Given the description of an element on the screen output the (x, y) to click on. 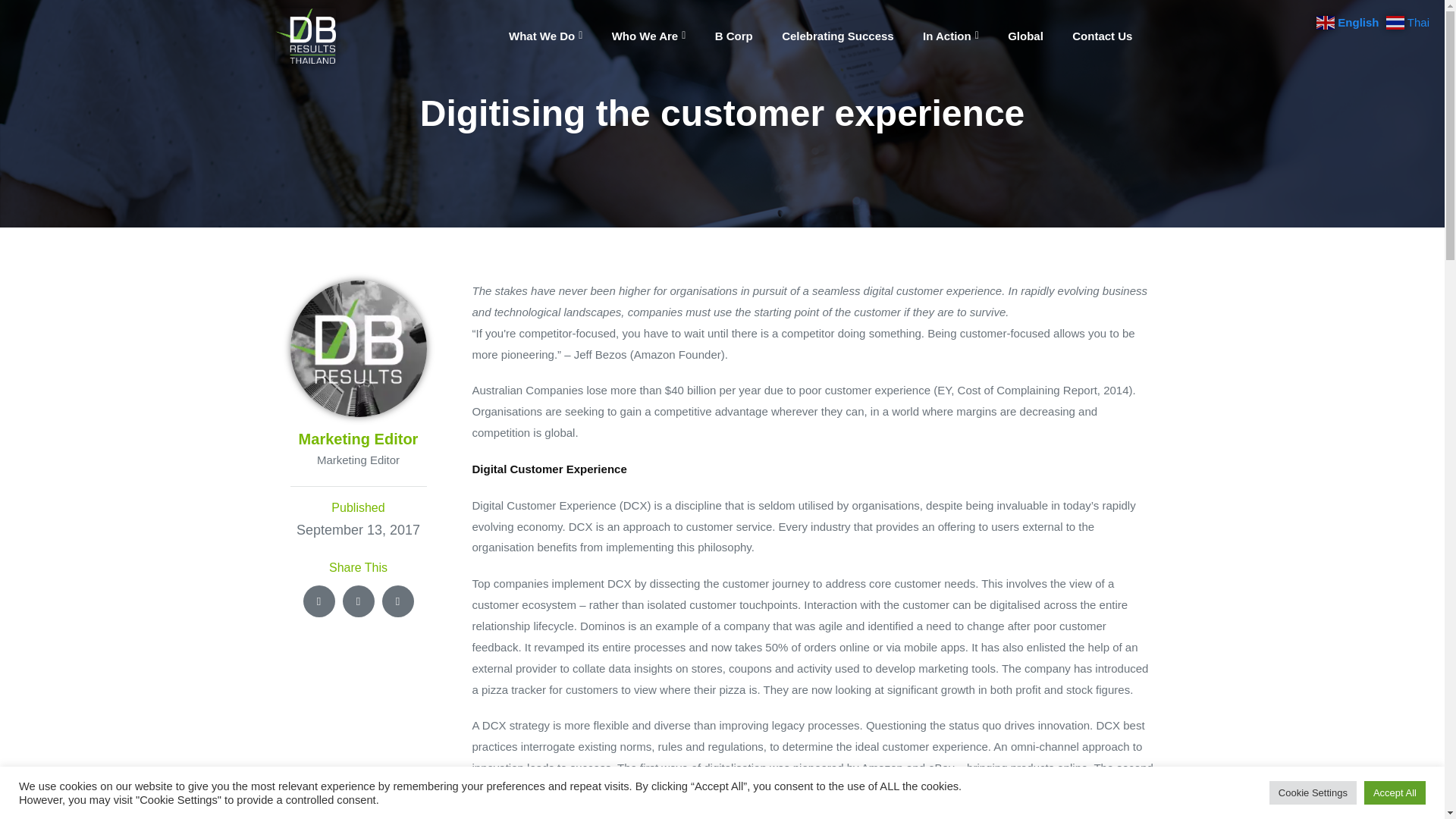
What We Do (545, 35)
Marketing Editor (357, 459)
Global (1025, 35)
Marketing Editor (357, 348)
In Action (950, 35)
Who We Are (648, 35)
B Corp (733, 35)
Contact Us (1101, 35)
Celebrating Success (837, 35)
